Given the description of an element on the screen output the (x, y) to click on. 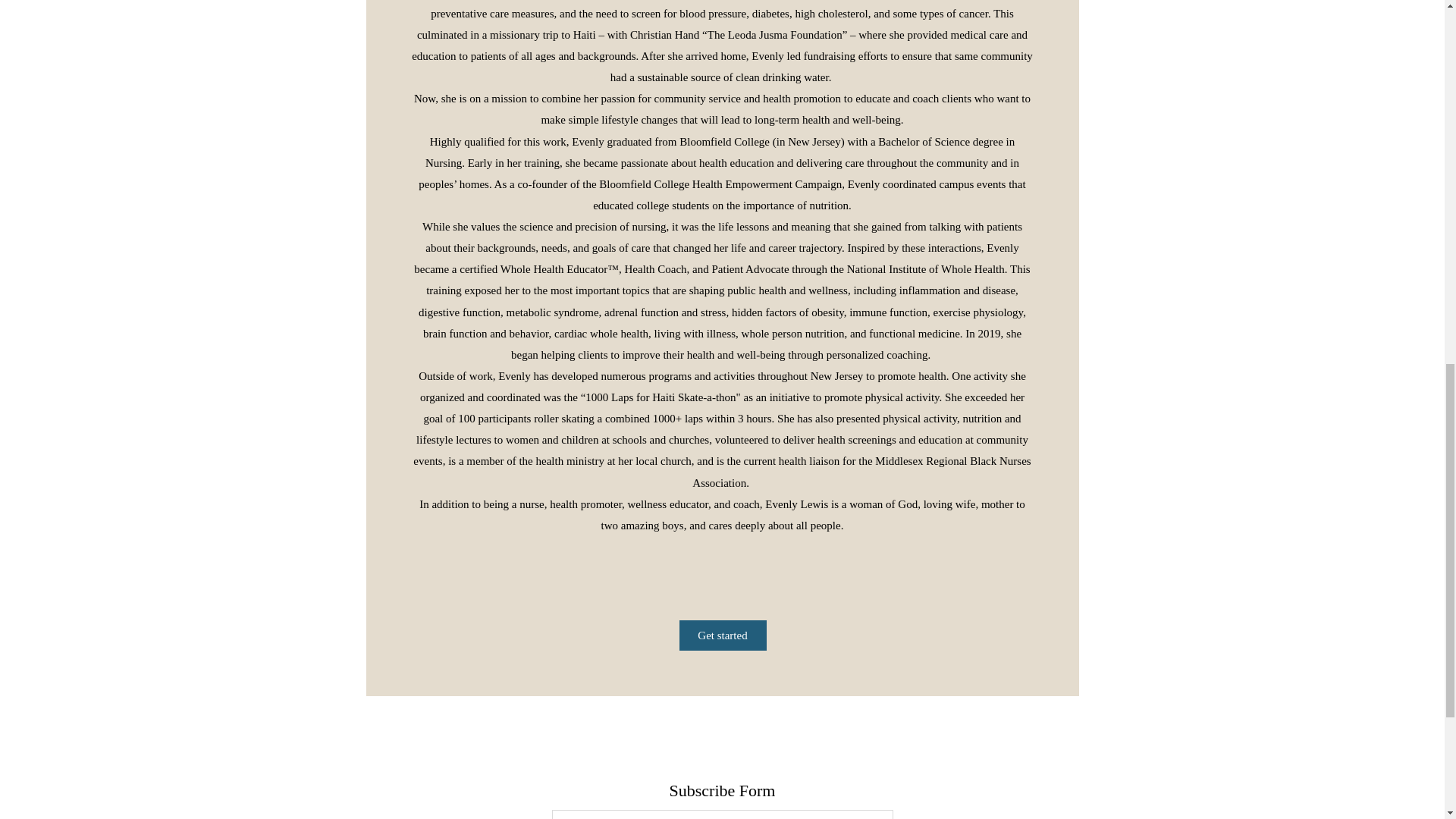
Get started (723, 634)
